Given the description of an element on the screen output the (x, y) to click on. 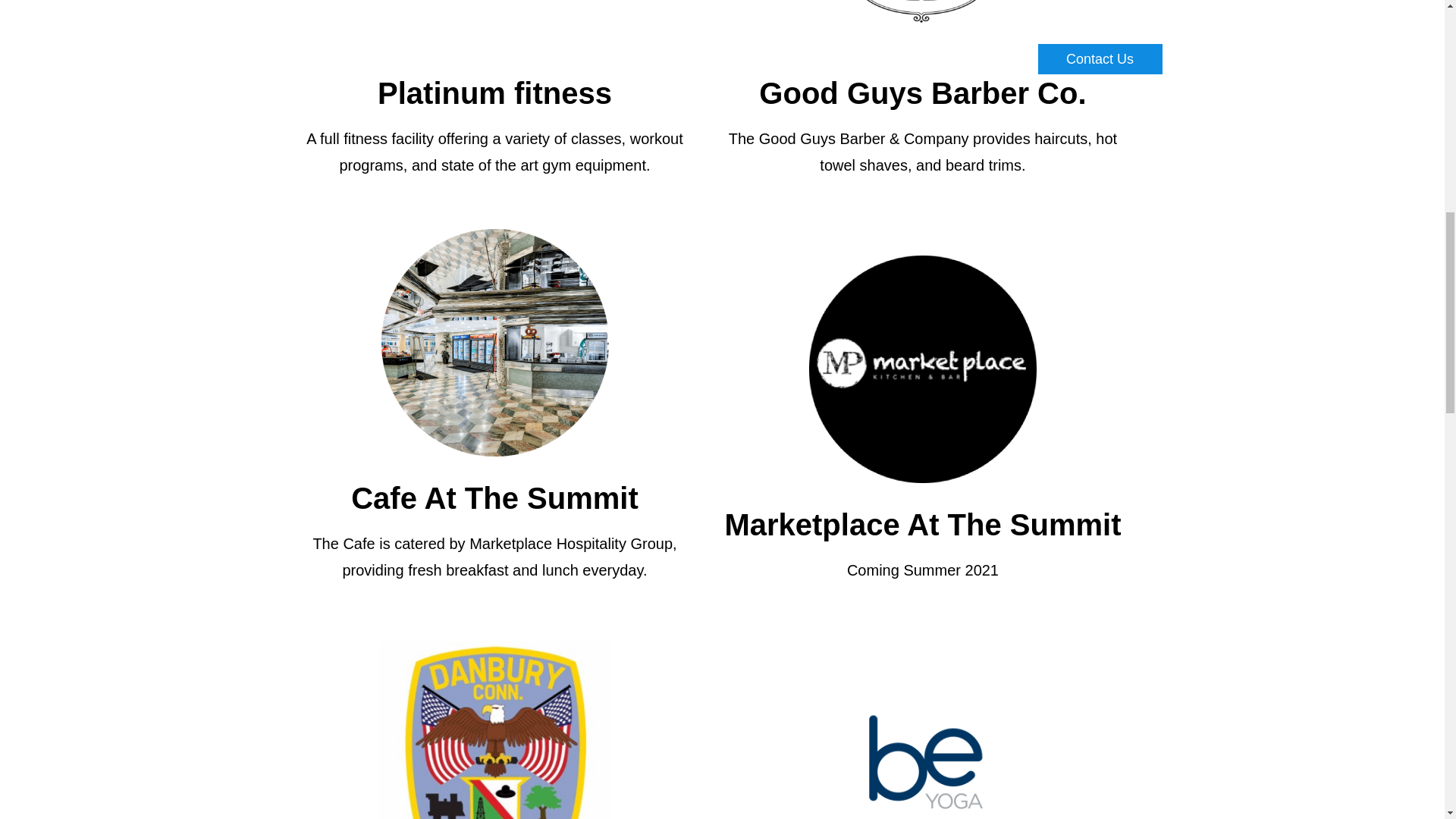
Platinum fitness (494, 92)
Good Guys Barber Co. (922, 92)
Cafe At The Summit (494, 498)
